Given the description of an element on the screen output the (x, y) to click on. 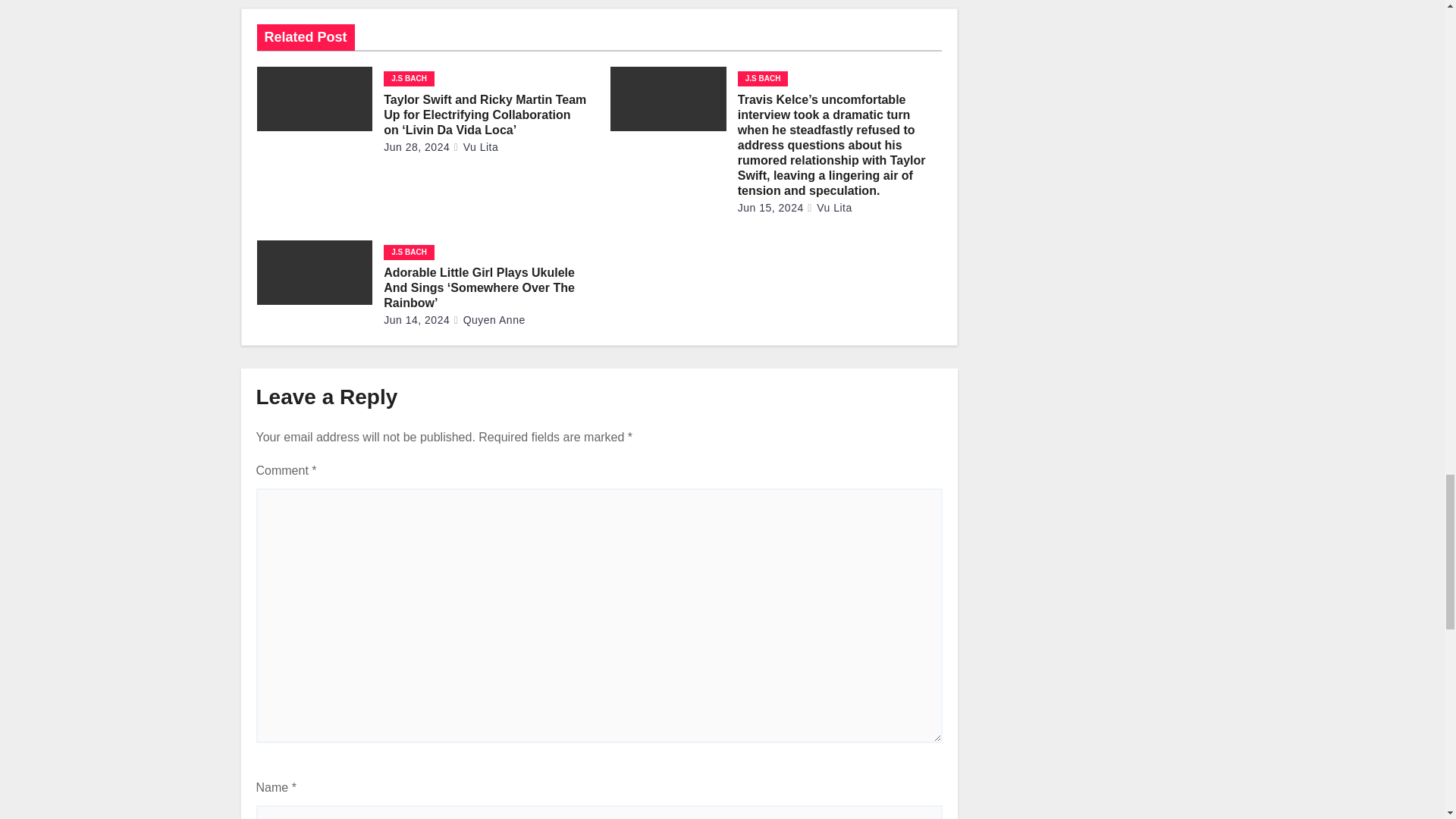
J.S BACH (408, 252)
Vu Lita (475, 146)
Jun 14, 2024 (416, 319)
Jun 28, 2024 (416, 146)
Vu Lita (828, 207)
Jun 15, 2024 (770, 207)
J.S BACH (408, 78)
J.S BACH (763, 78)
